Given the description of an element on the screen output the (x, y) to click on. 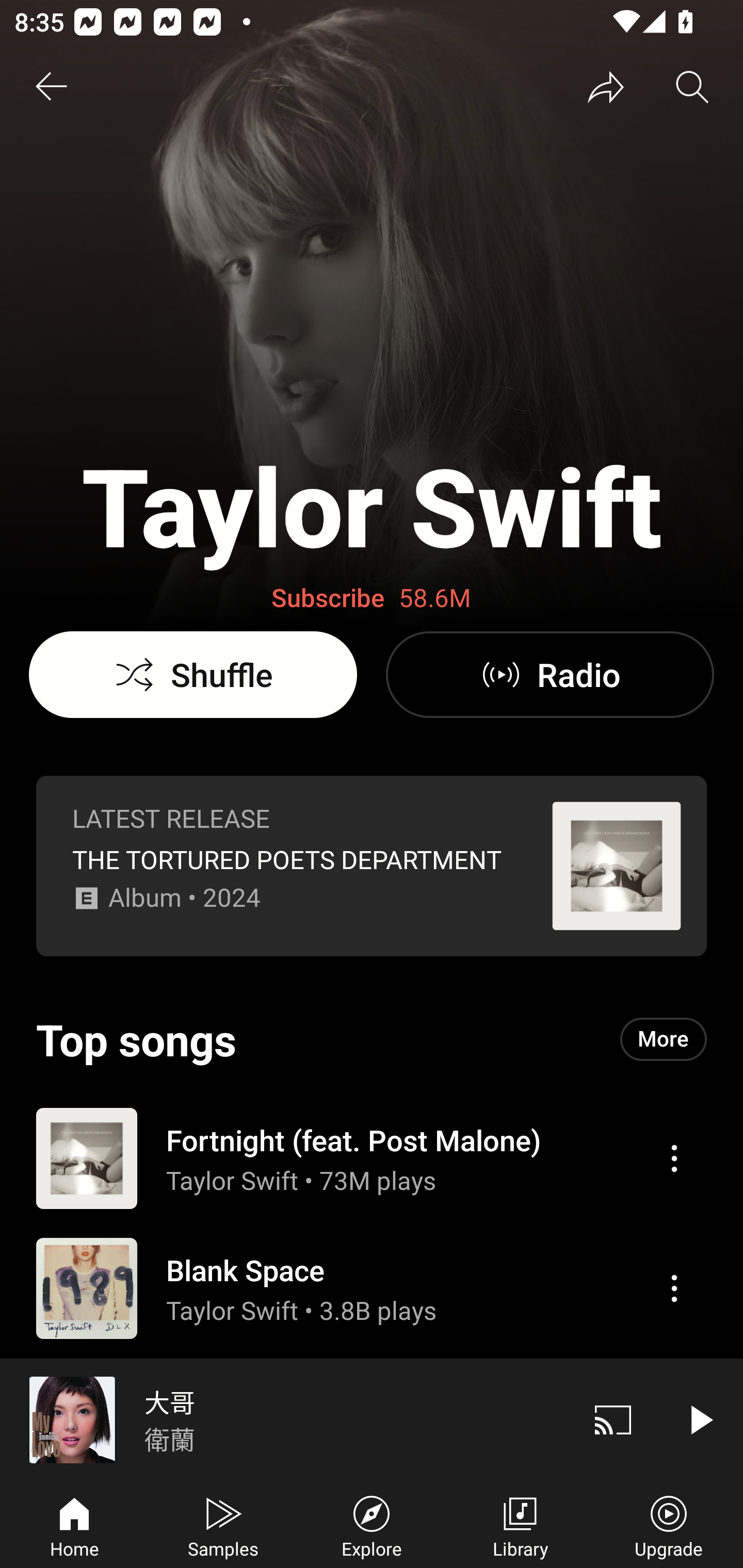
Back (50, 86)
Share (605, 86)
Search (692, 86)
Subscribe 58.6M (371, 598)
Shuffle (192, 674)
Radio (549, 674)
Action menu (371, 1157)
Action menu (673, 1158)
Action menu (371, 1288)
Action menu (673, 1288)
大哥 衛蘭 (284, 1419)
Action menu (673, 1418)
Cast. Disconnected (612, 1419)
Play video (699, 1419)
Home (74, 1524)
Samples (222, 1524)
Explore (371, 1524)
Library (519, 1524)
Upgrade (668, 1524)
